Given the description of an element on the screen output the (x, y) to click on. 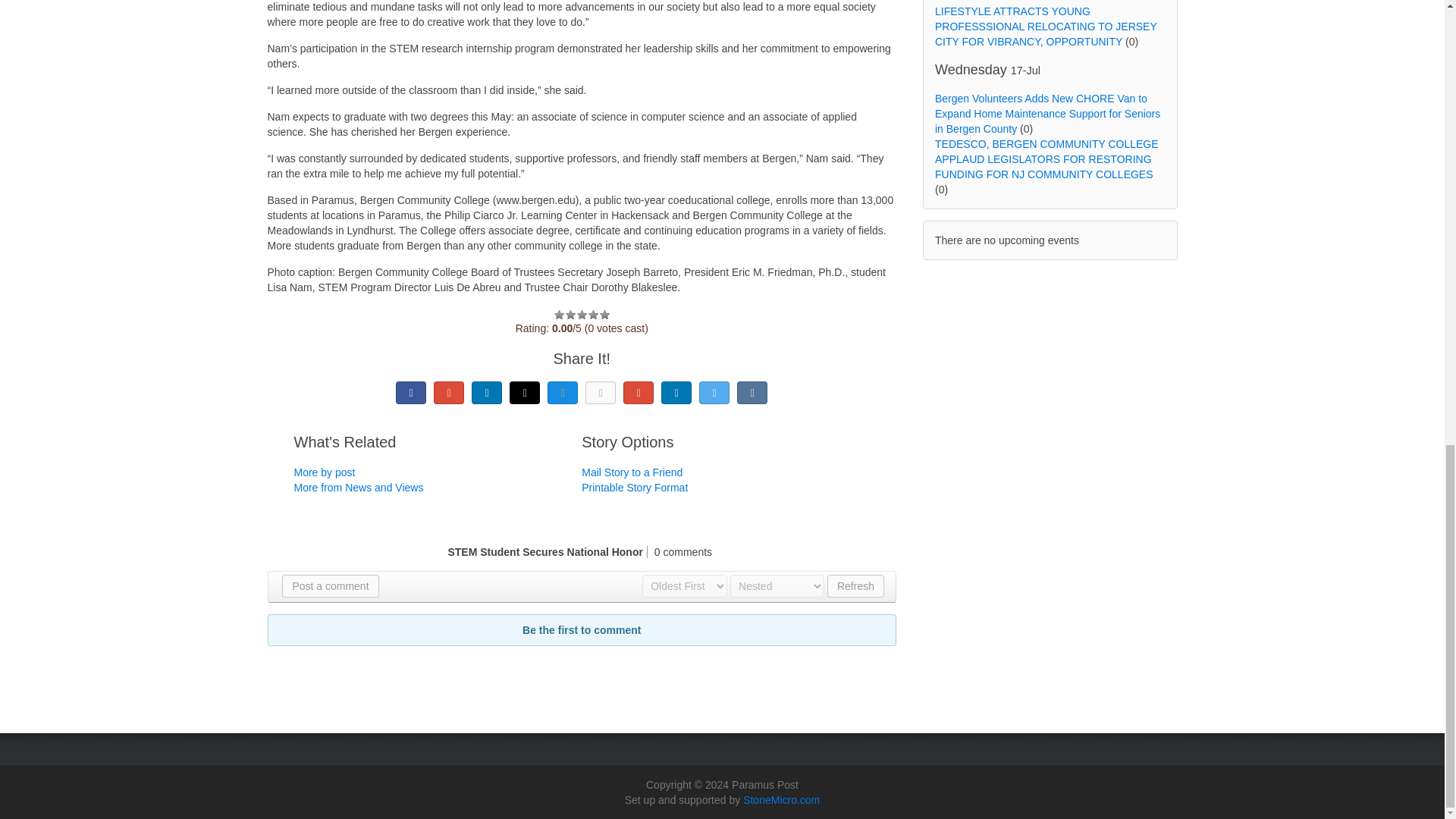
Pinterest (638, 392)
Facebook (411, 392)
More by post (324, 472)
reddit (676, 392)
Twitter (713, 392)
Mail.ru (562, 392)
vk (751, 392)
Live Journal (524, 392)
Odnoklassniki (600, 392)
LinkedIn (486, 392)
